Given the description of an element on the screen output the (x, y) to click on. 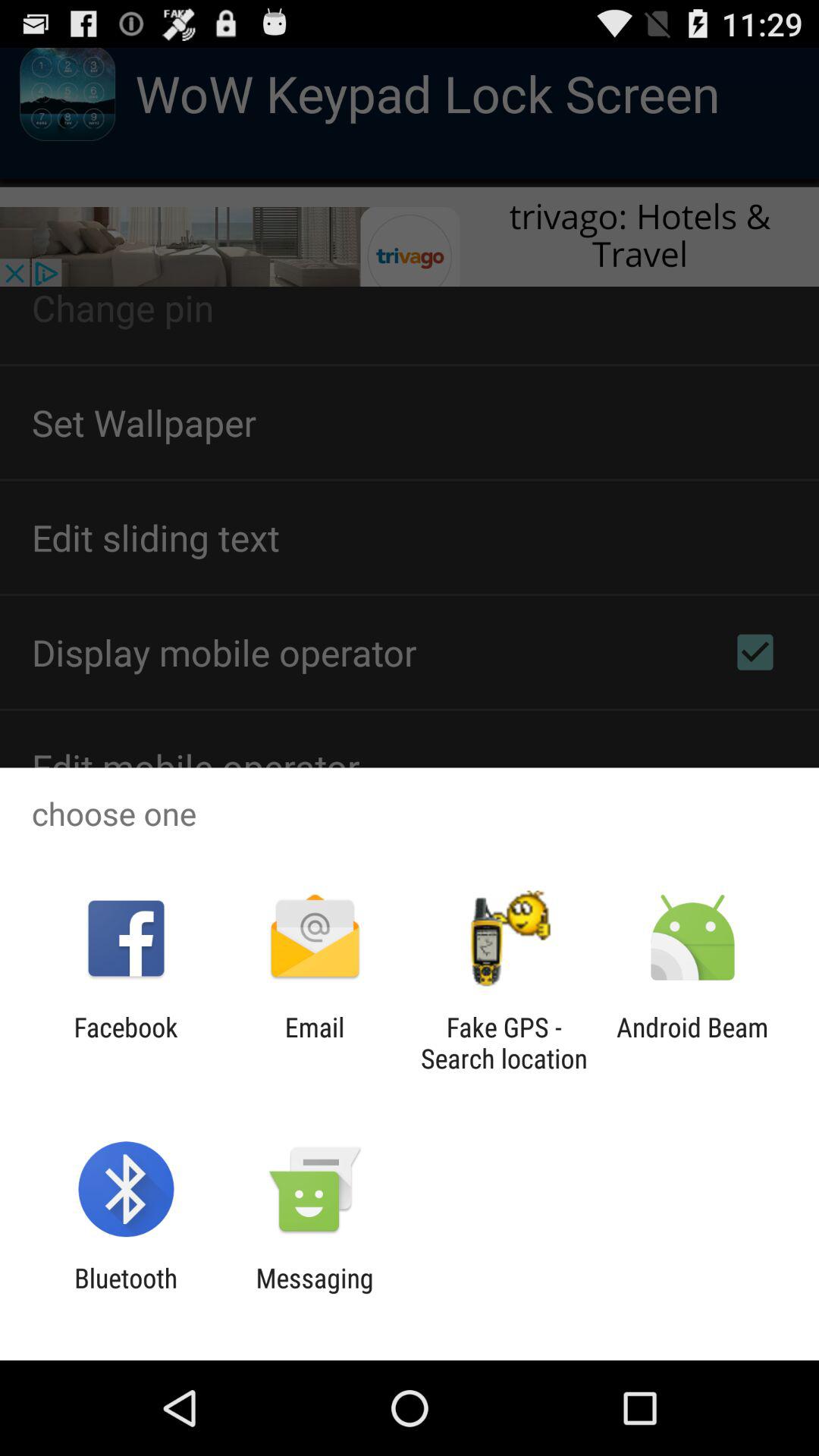
tap facebook (125, 1042)
